Given the description of an element on the screen output the (x, y) to click on. 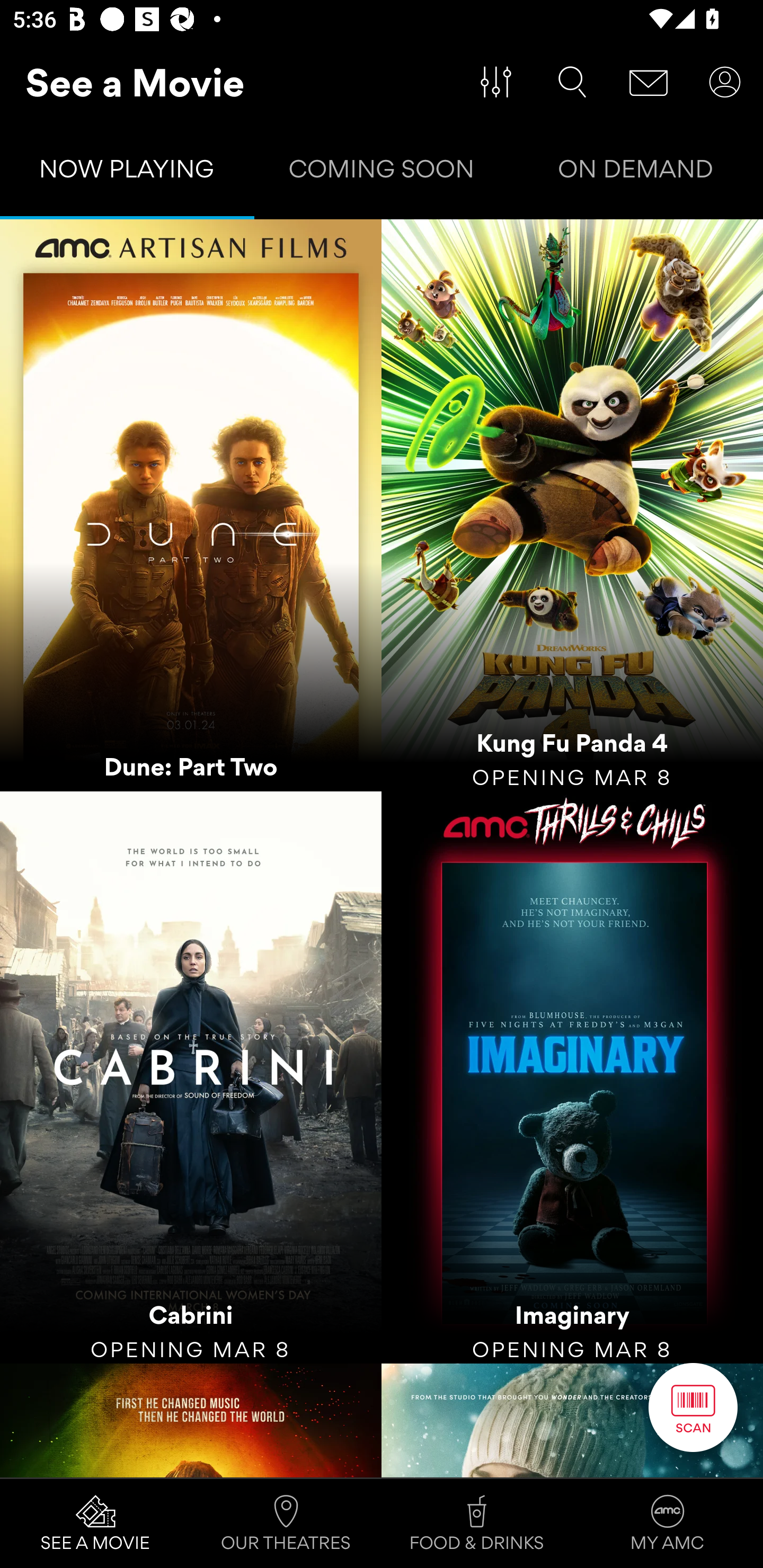
Filter Movies (495, 82)
Search (572, 82)
Message Center (648, 82)
User Account (724, 82)
NOW PLAYING
Tab 1 of 3 (127, 173)
COMING SOON
Tab 2 of 3 (381, 173)
ON DEMAND
Tab 3 of 3 (635, 173)
Dune: Part Two (190, 505)
Kung Fu Panda 4
OPENING MAR 8 (572, 505)
Cabrini
OPENING MAR 8 (190, 1077)
Imaginary
OPENING MAR 8 (572, 1077)
Scan Button (692, 1406)
SEE A MOVIE
Tab 1 of 4 (95, 1523)
OUR THEATRES
Tab 2 of 4 (285, 1523)
FOOD & DRINKS
Tab 3 of 4 (476, 1523)
MY AMC
Tab 4 of 4 (667, 1523)
